Given the description of an element on the screen output the (x, y) to click on. 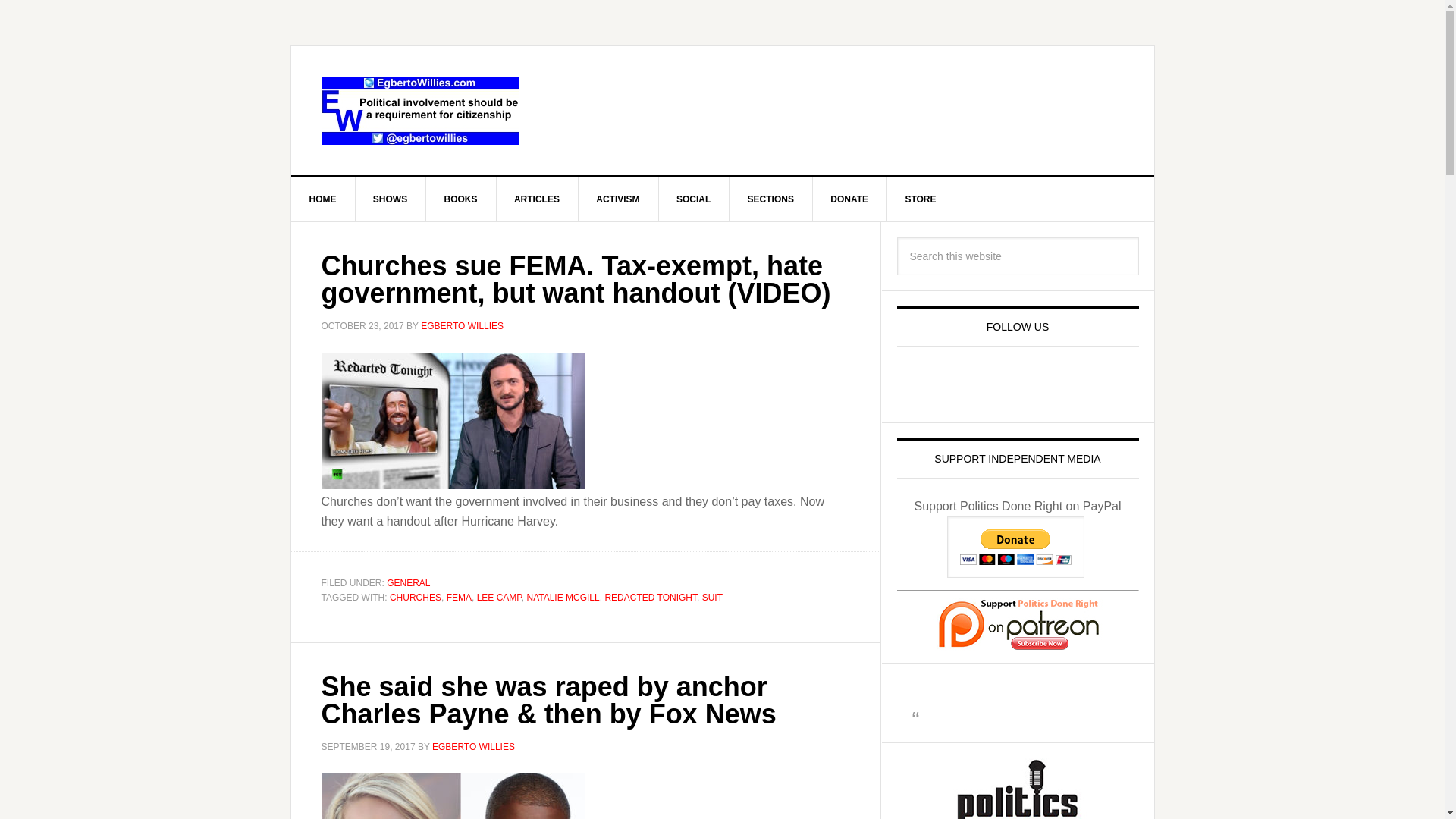
ACTIVISM (618, 199)
SOCIAL (693, 199)
HOME (323, 199)
ARTICLES (537, 199)
SHOWS (390, 199)
BOOKS (461, 199)
EGBERTOWILLIES.COM (419, 110)
PayPal - The safer, easier way to pay online! (1015, 547)
